Given the description of an element on the screen output the (x, y) to click on. 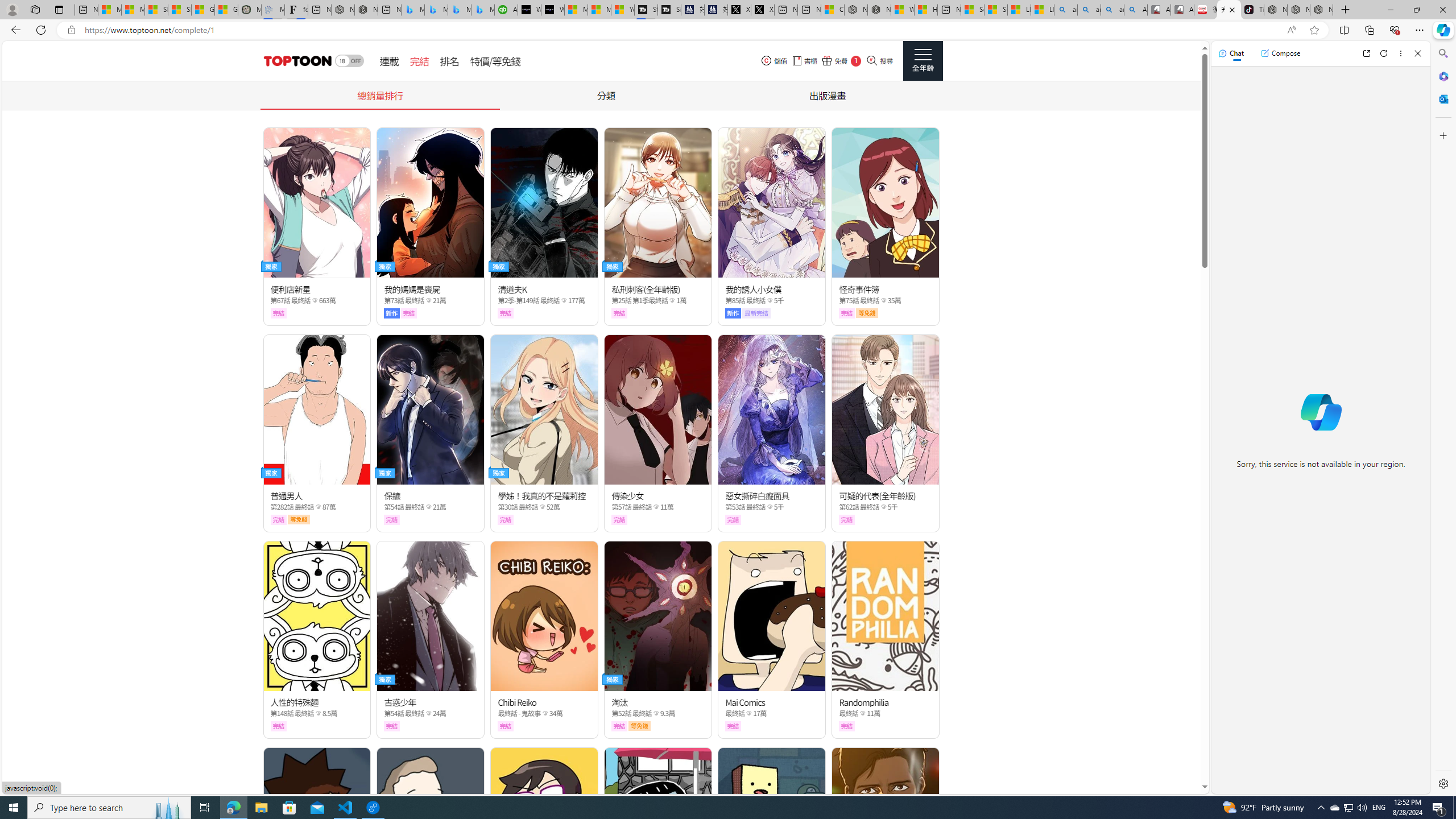
Outlook (1442, 98)
header (295, 60)
